Given the description of an element on the screen output the (x, y) to click on. 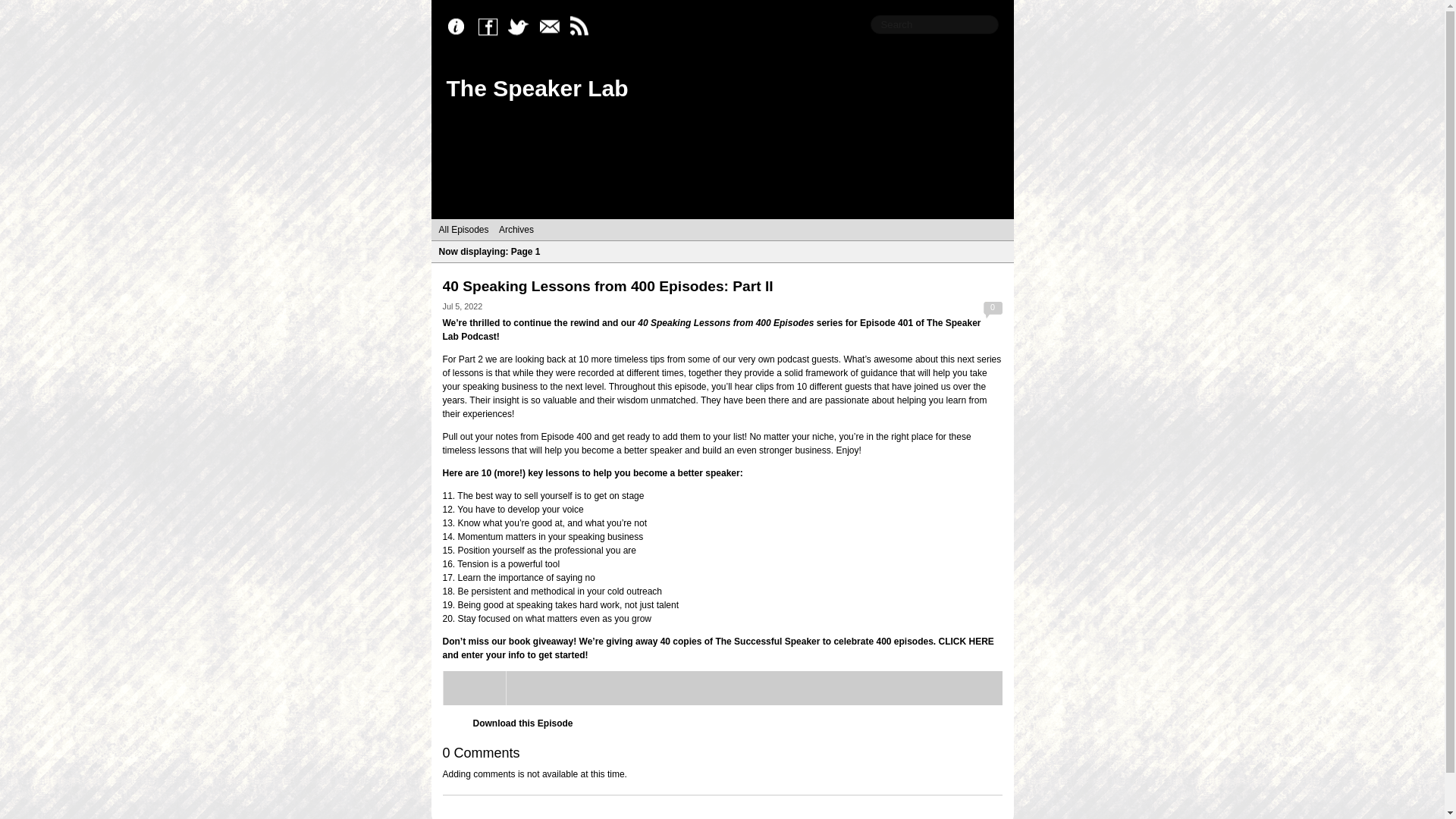
Facebook (491, 26)
The Speaker Lab (536, 88)
Libsyn Player (722, 687)
RSS Feed (581, 26)
Email (552, 26)
Twitter (521, 26)
